Given the description of an element on the screen output the (x, y) to click on. 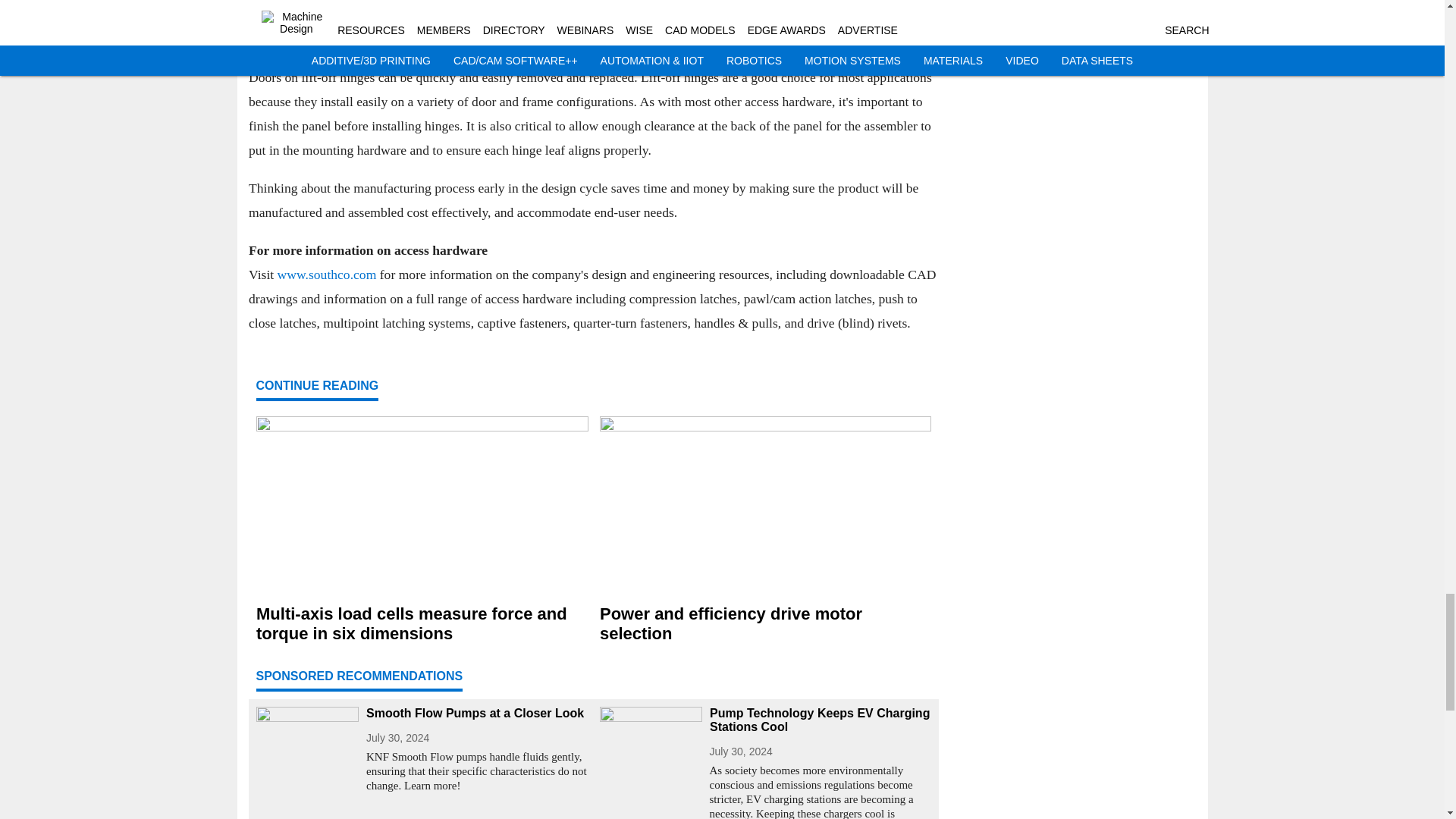
Pump Technology Keeps EV Charging Stations Cool (820, 719)
Power and efficiency drive motor selection (764, 623)
www.southco.com (325, 273)
Smooth Flow Pumps at a Closer Look (476, 713)
